Given the description of an element on the screen output the (x, y) to click on. 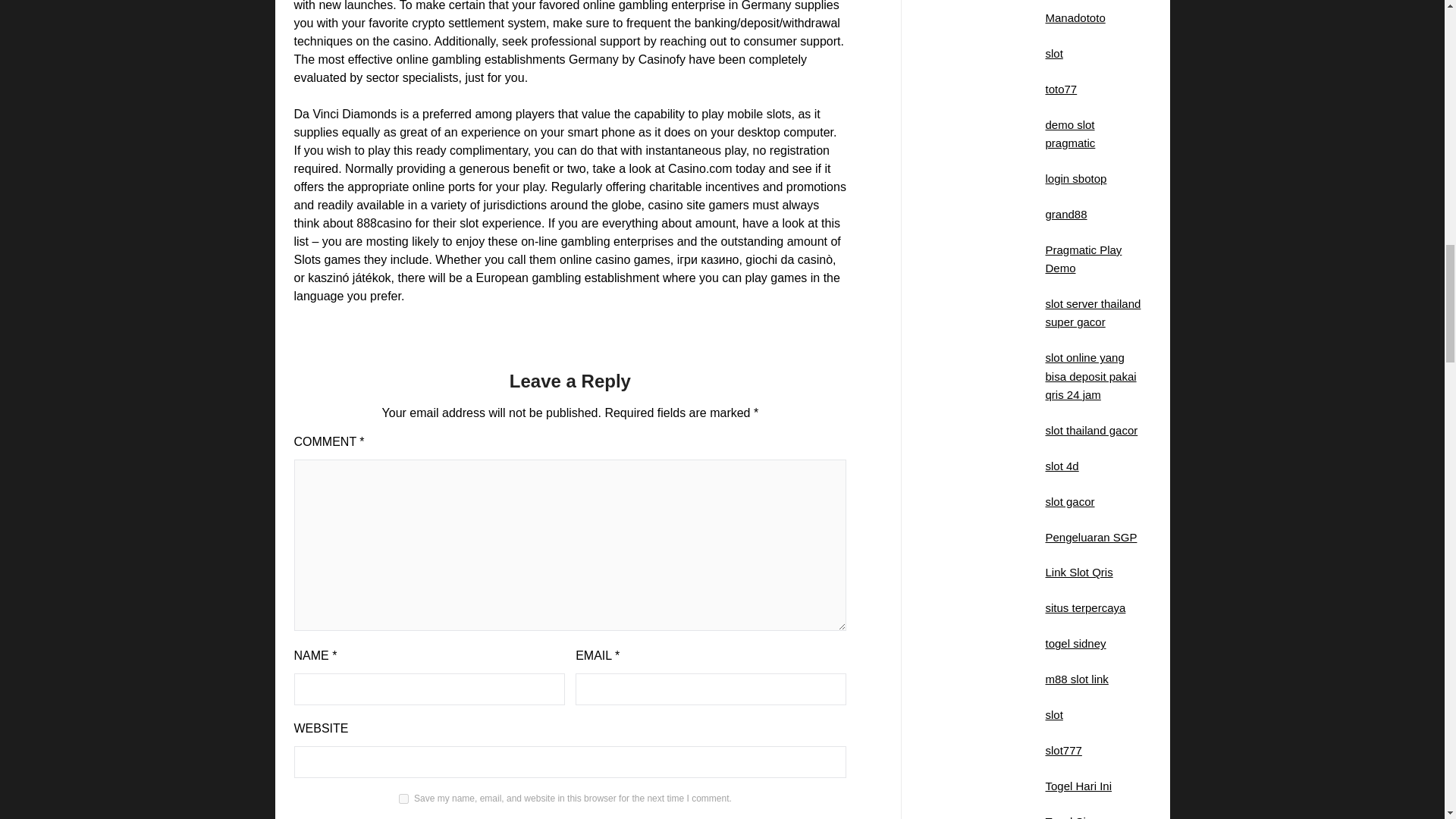
yes (403, 798)
